Given the description of an element on the screen output the (x, y) to click on. 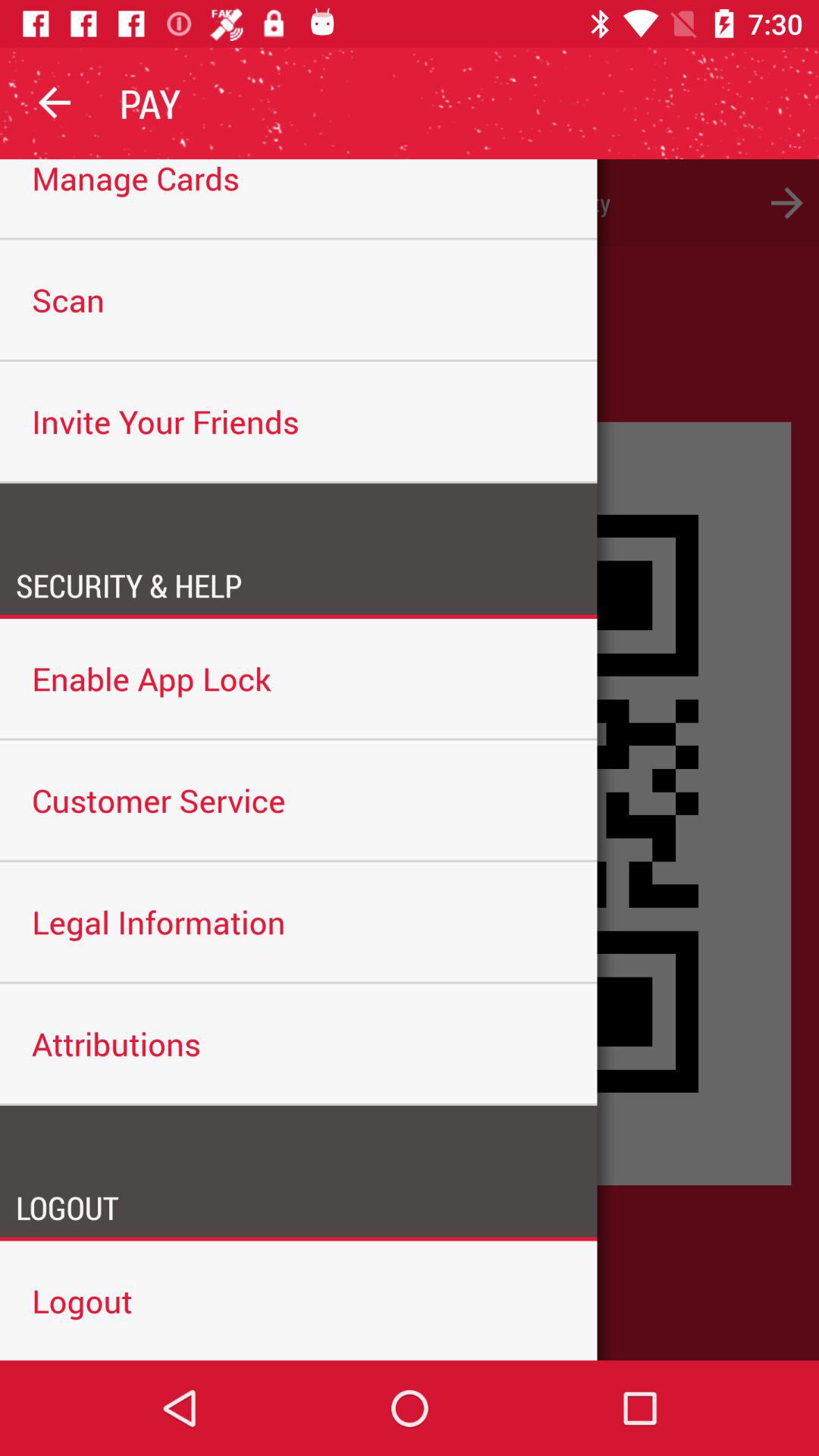
launch the item next to pay icon (55, 103)
